Given the description of an element on the screen output the (x, y) to click on. 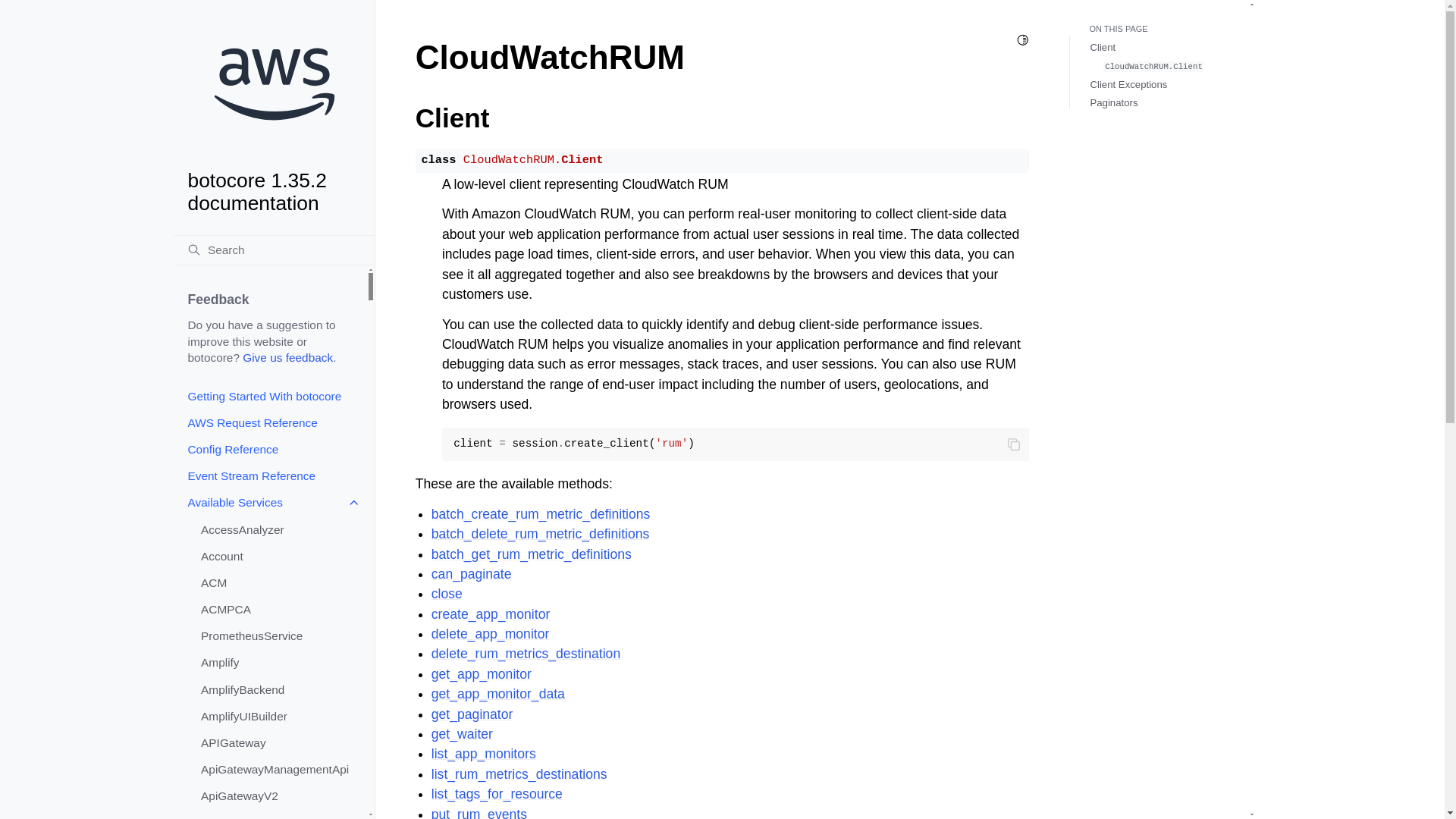
Amplify (276, 663)
Available Services (270, 502)
Getting Started With botocore (270, 396)
ApiGatewayV2 (276, 795)
Event Stream Reference (270, 475)
ApiGatewayManagementApi (276, 768)
ACMPCA (276, 609)
AmplifyBackend (276, 689)
AmplifyUIBuilder (276, 715)
PrometheusService (276, 635)
